Given the description of an element on the screen output the (x, y) to click on. 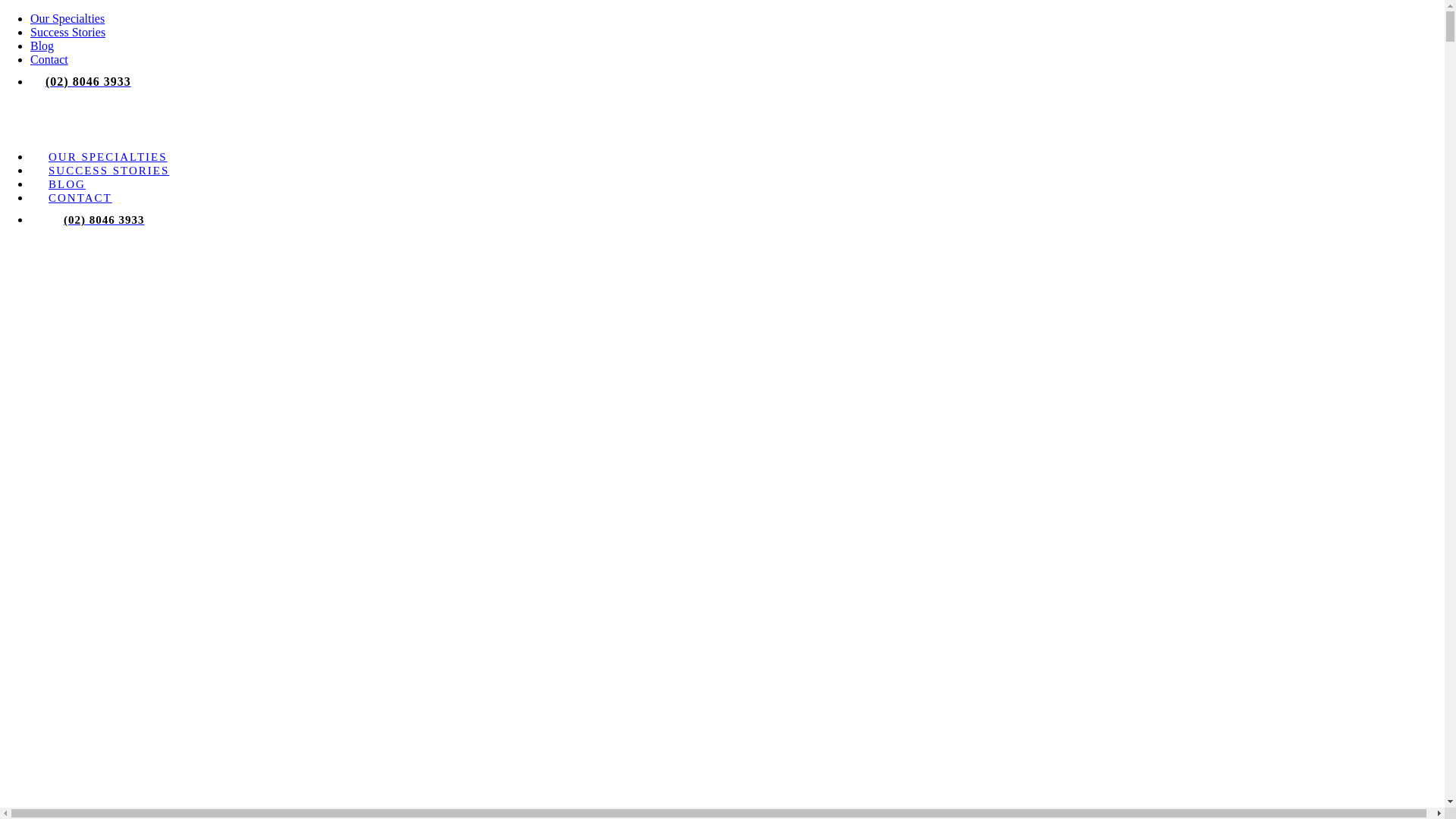
SUCCESS STORIES Element type: text (108, 170)
BLOG Element type: text (66, 184)
Our Specialties Element type: text (67, 18)
Contact Element type: text (49, 59)
(02) 8046 3933 Element type: text (88, 81)
OUR SPECIALTIES Element type: text (107, 156)
Blog Element type: text (41, 45)
Success Stories Element type: text (67, 31)
(02) 8046 3933 Element type: text (104, 219)
CONTACT Element type: text (80, 197)
